Given the description of an element on the screen output the (x, y) to click on. 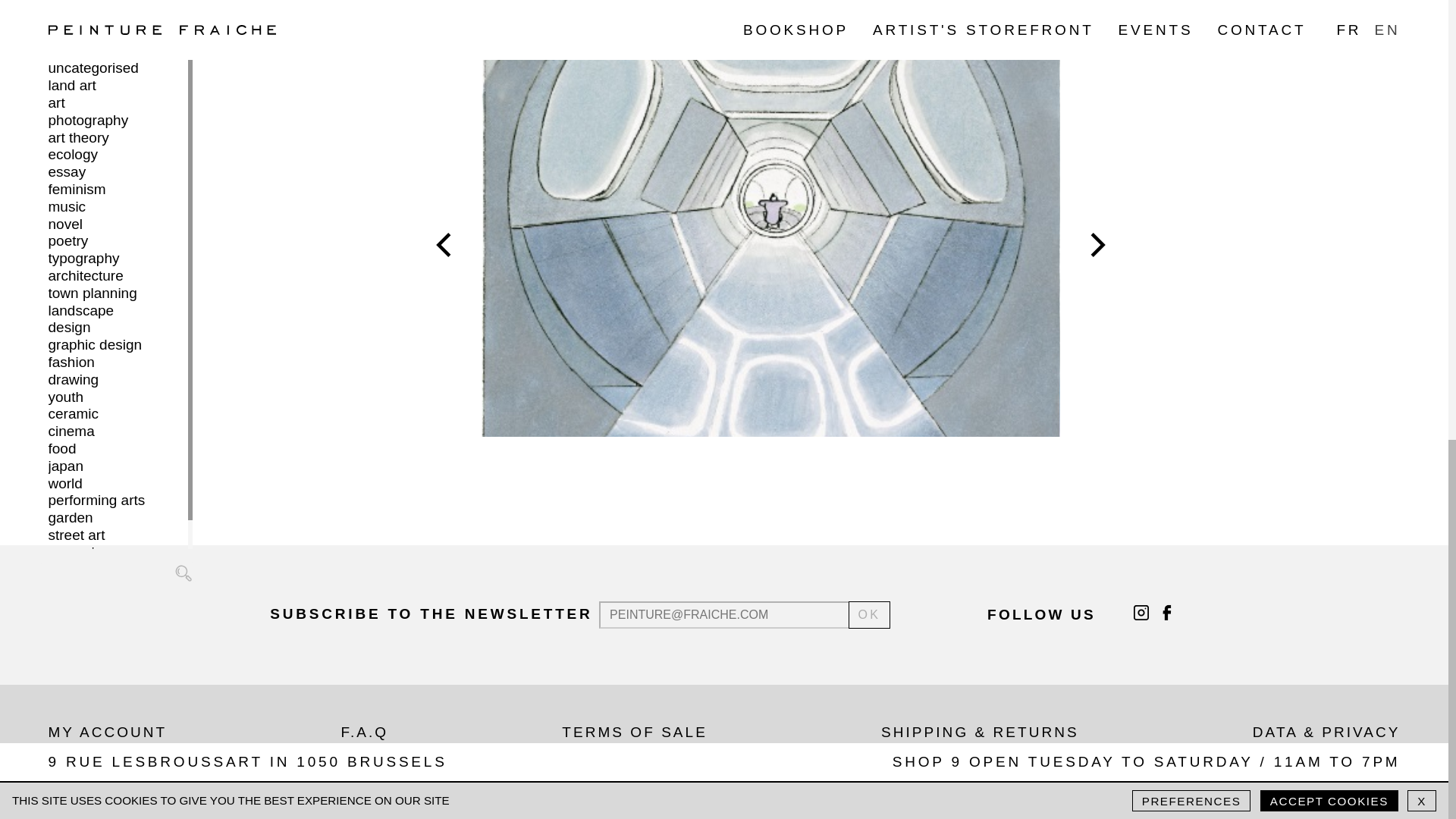
OK (869, 615)
My Account (107, 731)
F.A.Q (364, 731)
Terms of sale (634, 731)
